Given the description of an element on the screen output the (x, y) to click on. 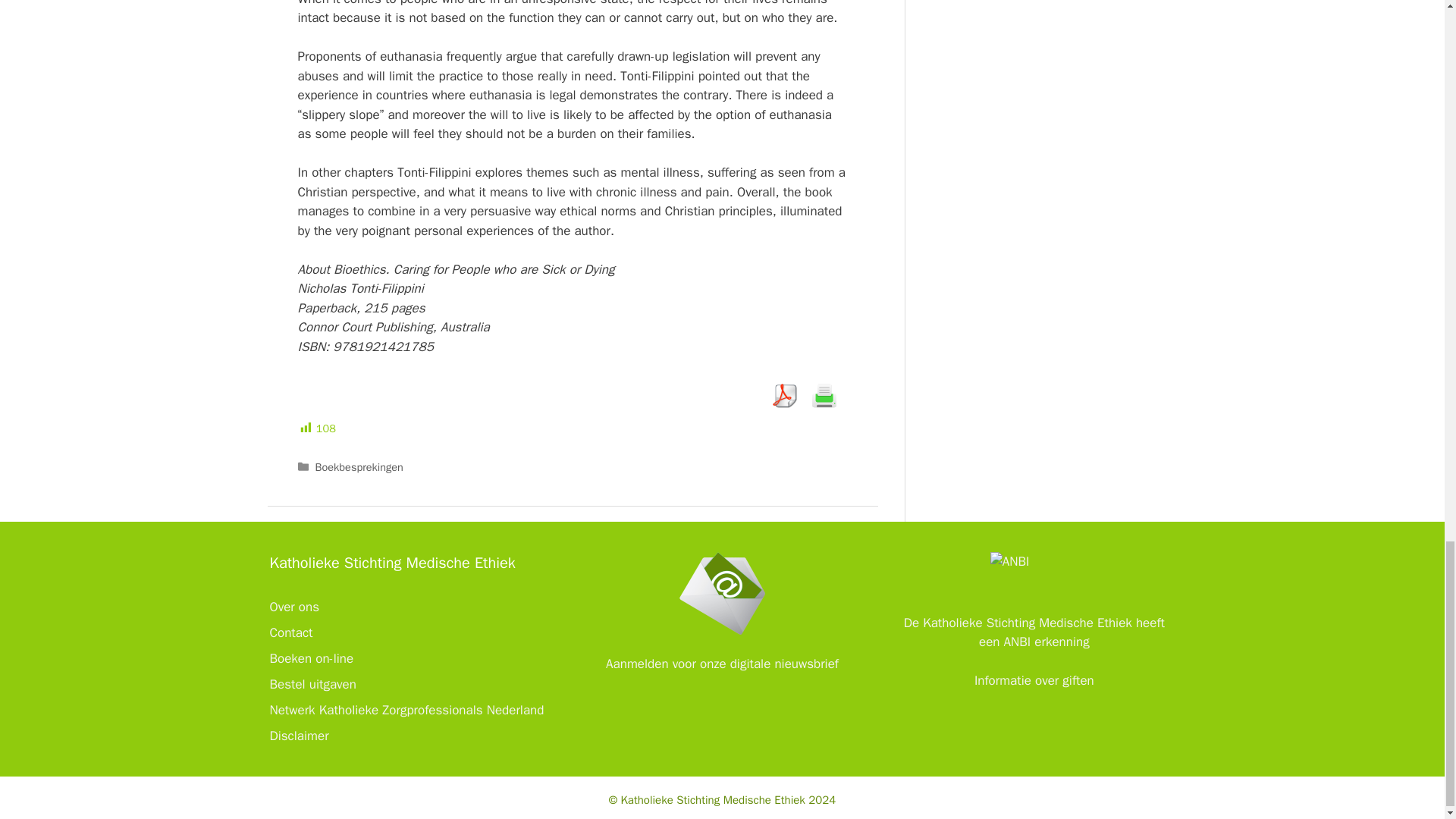
Print Content (824, 395)
View PDF (784, 395)
